Given the description of an element on the screen output the (x, y) to click on. 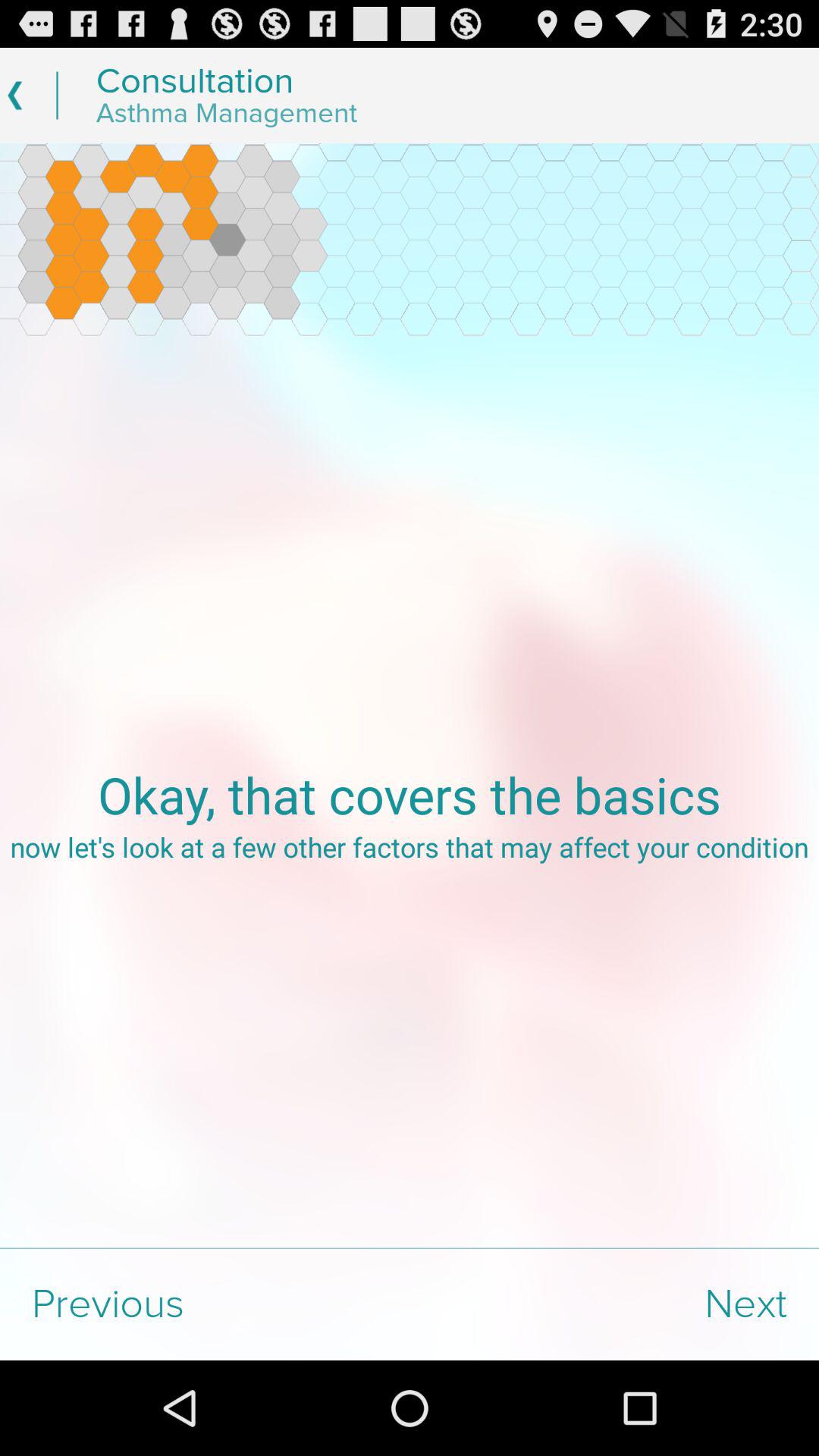
launch the icon next to the previous icon (614, 1304)
